Given the description of an element on the screen output the (x, y) to click on. 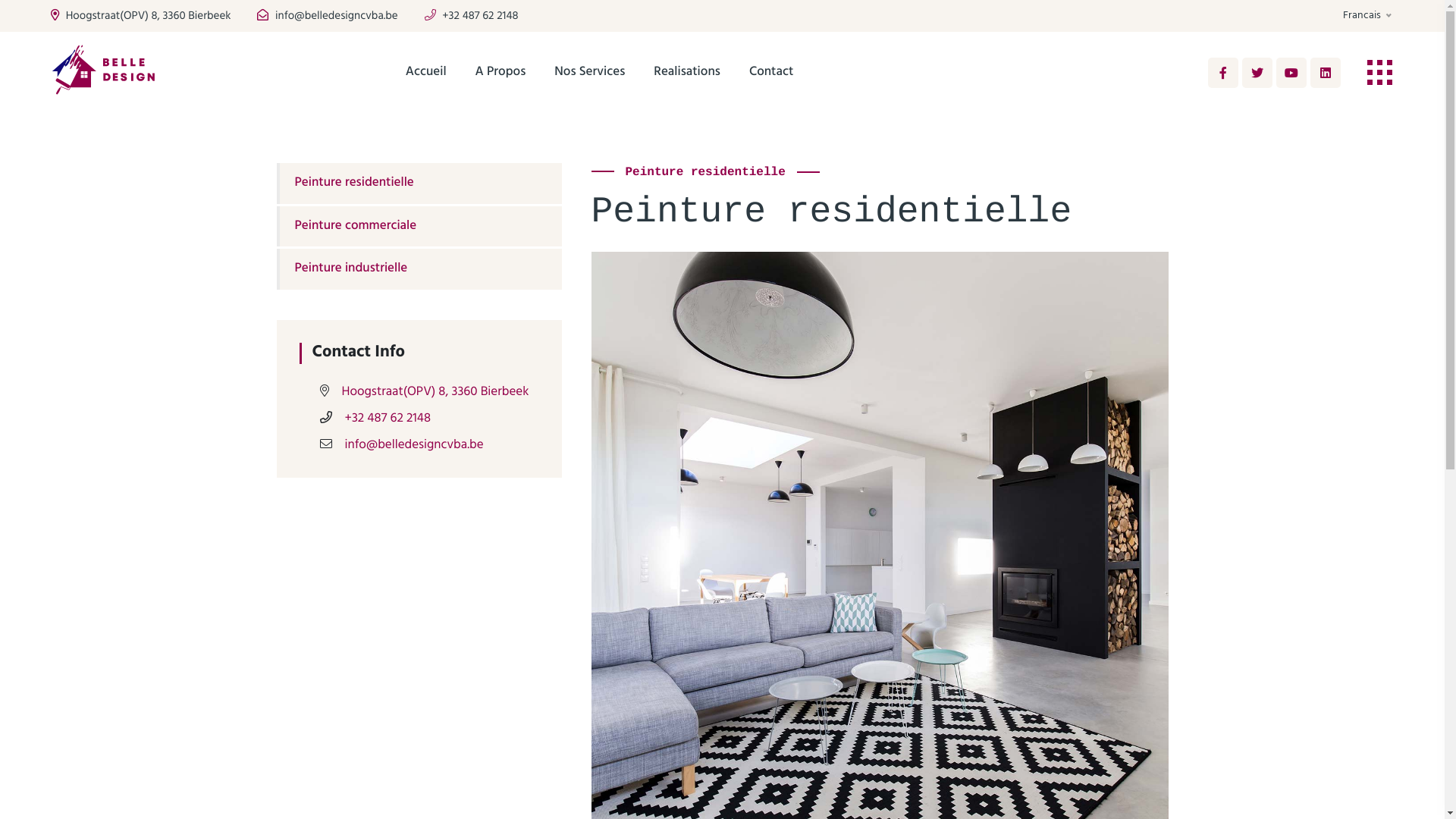
Nos Services Element type: text (589, 72)
Hoogstraat(OPV) 8, 3360 Bierbeek Element type: text (434, 392)
Peinture commerciale Element type: text (418, 226)
Peinture industrielle Element type: text (418, 268)
Accueil Element type: text (425, 72)
Youtube Element type: hover (1291, 72)
+32 487 62 2148 Element type: text (387, 417)
Hoogstraat(OPV) 8, 3360 Bierbeek Element type: text (140, 16)
info@belledesigncvba.be Element type: text (327, 16)
Peinture residentielle Element type: text (418, 183)
A Propos Element type: text (500, 72)
Realisations Element type: text (686, 72)
Twitter Element type: hover (1257, 72)
info@belledesigncvba.be Element type: text (413, 445)
Belle design Element type: hover (114, 72)
Contact Element type: text (771, 72)
+32 487 62 2148 Element type: text (471, 16)
Facebook Element type: hover (1223, 72)
Linkedin Element type: hover (1325, 72)
Francais Element type: text (1368, 15)
